Given the description of an element on the screen output the (x, y) to click on. 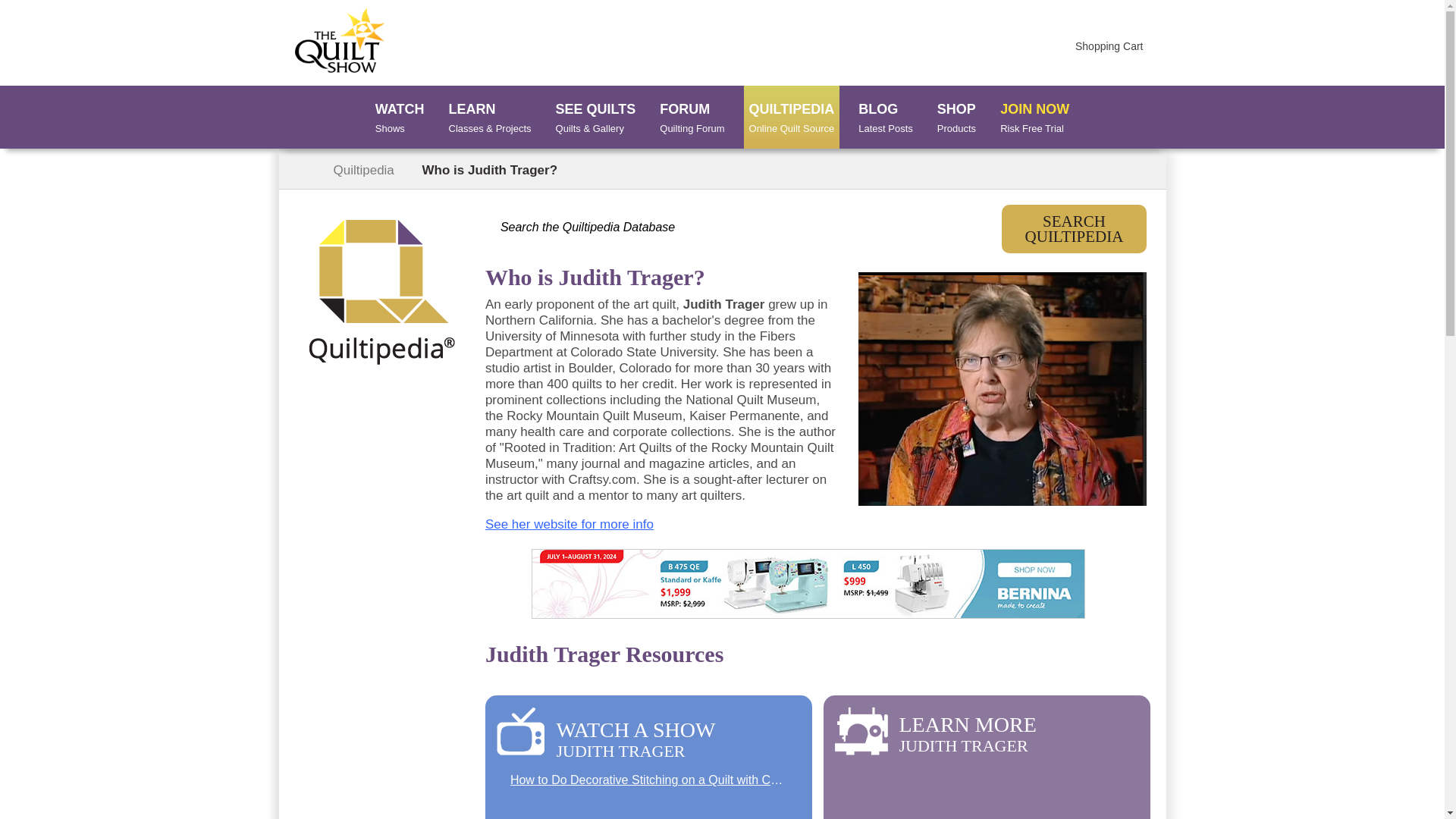
Quiltipedia (365, 169)
The Quilt Show Quilting Blog (1034, 118)
See her website for more info (399, 118)
Shopping Cart (885, 118)
Who is Judith Trager? (568, 523)
The Quilt Show (1114, 46)
